Given the description of an element on the screen output the (x, y) to click on. 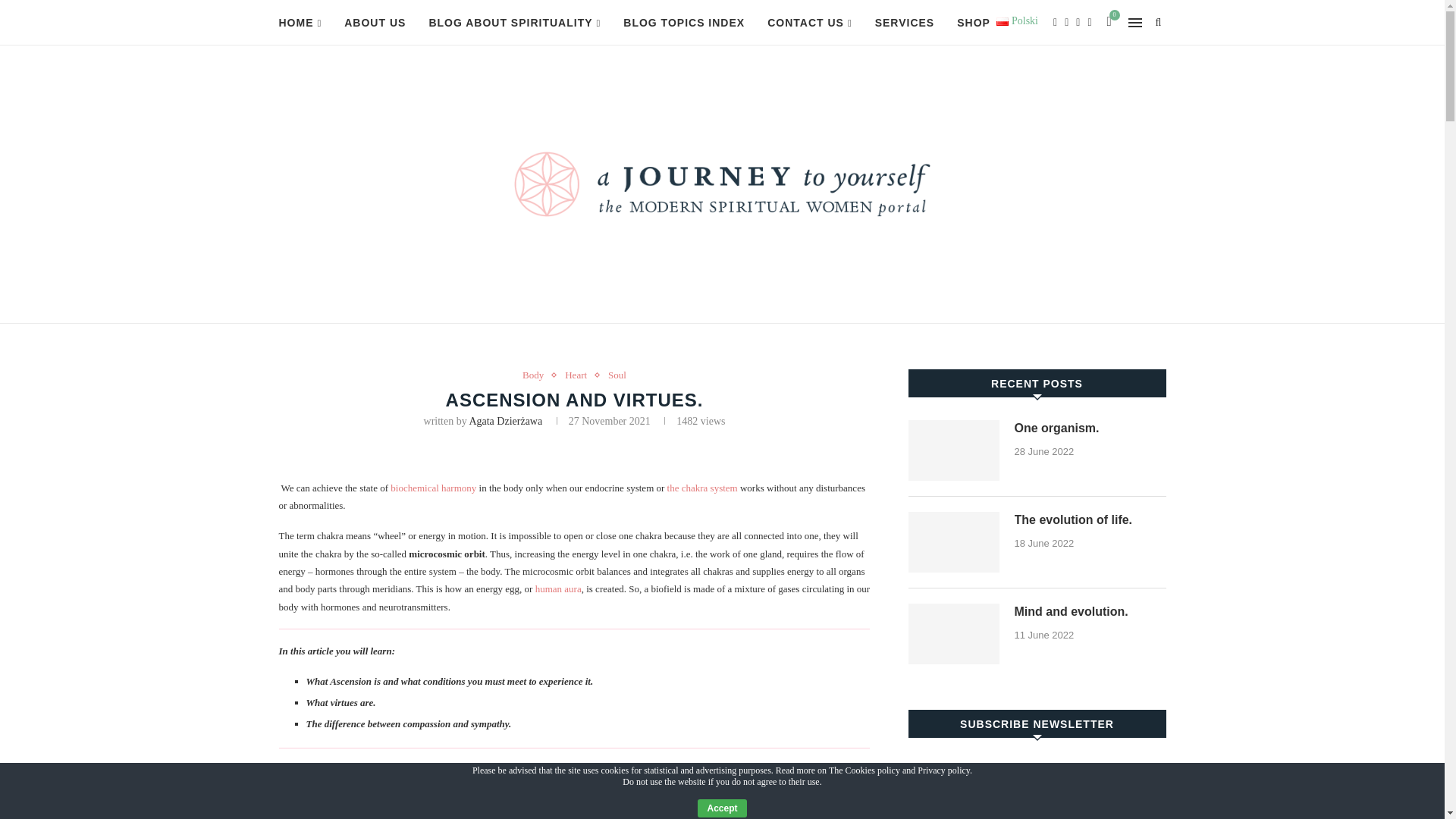
ABOUT US (374, 22)
HOME (300, 22)
BLOG TOPICS INDEX (683, 22)
BLOG ABOUT SPIRITUALITY (513, 22)
